Given the description of an element on the screen output the (x, y) to click on. 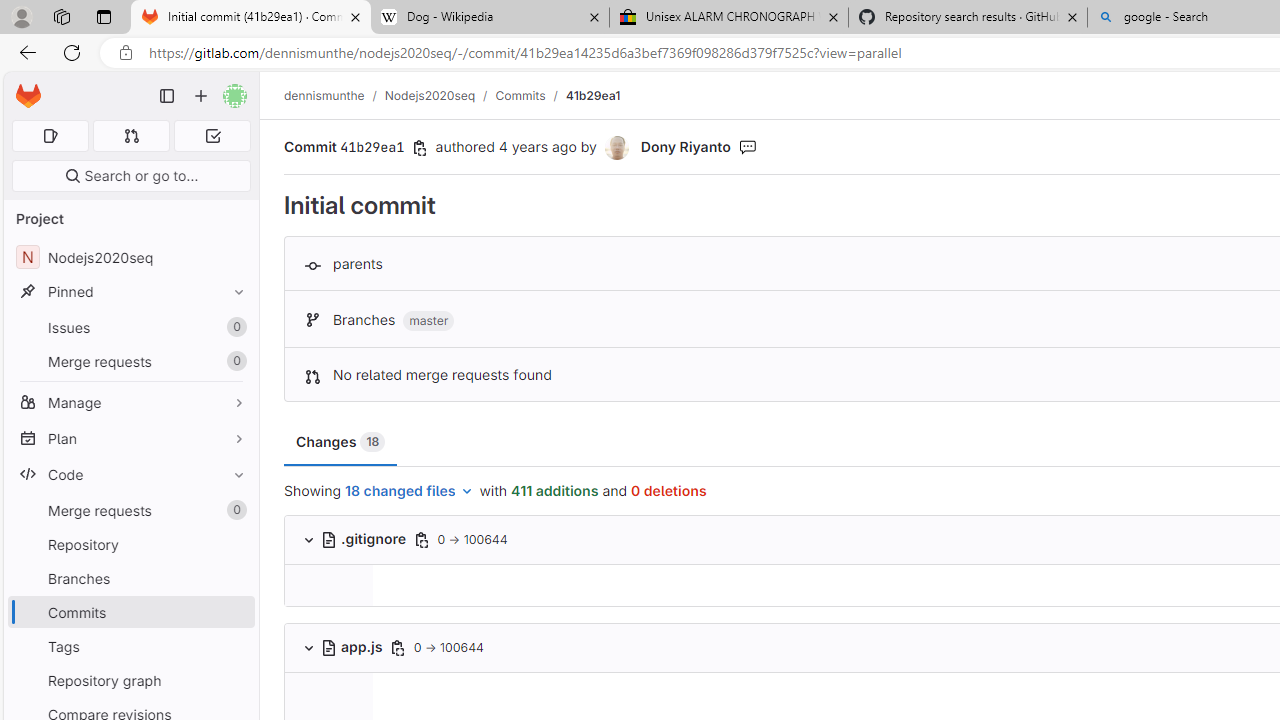
Create new... (201, 96)
Repository (130, 543)
Changes 18 (341, 442)
Issues 0 (130, 327)
Commits/ (530, 95)
Unpin Merge requests (234, 510)
Unpin Issues (234, 327)
Merge requests0 (130, 510)
Copy file path (397, 647)
Manage (130, 402)
Class: s16 chevron-down (308, 647)
18 changed files (410, 491)
